Given the description of an element on the screen output the (x, y) to click on. 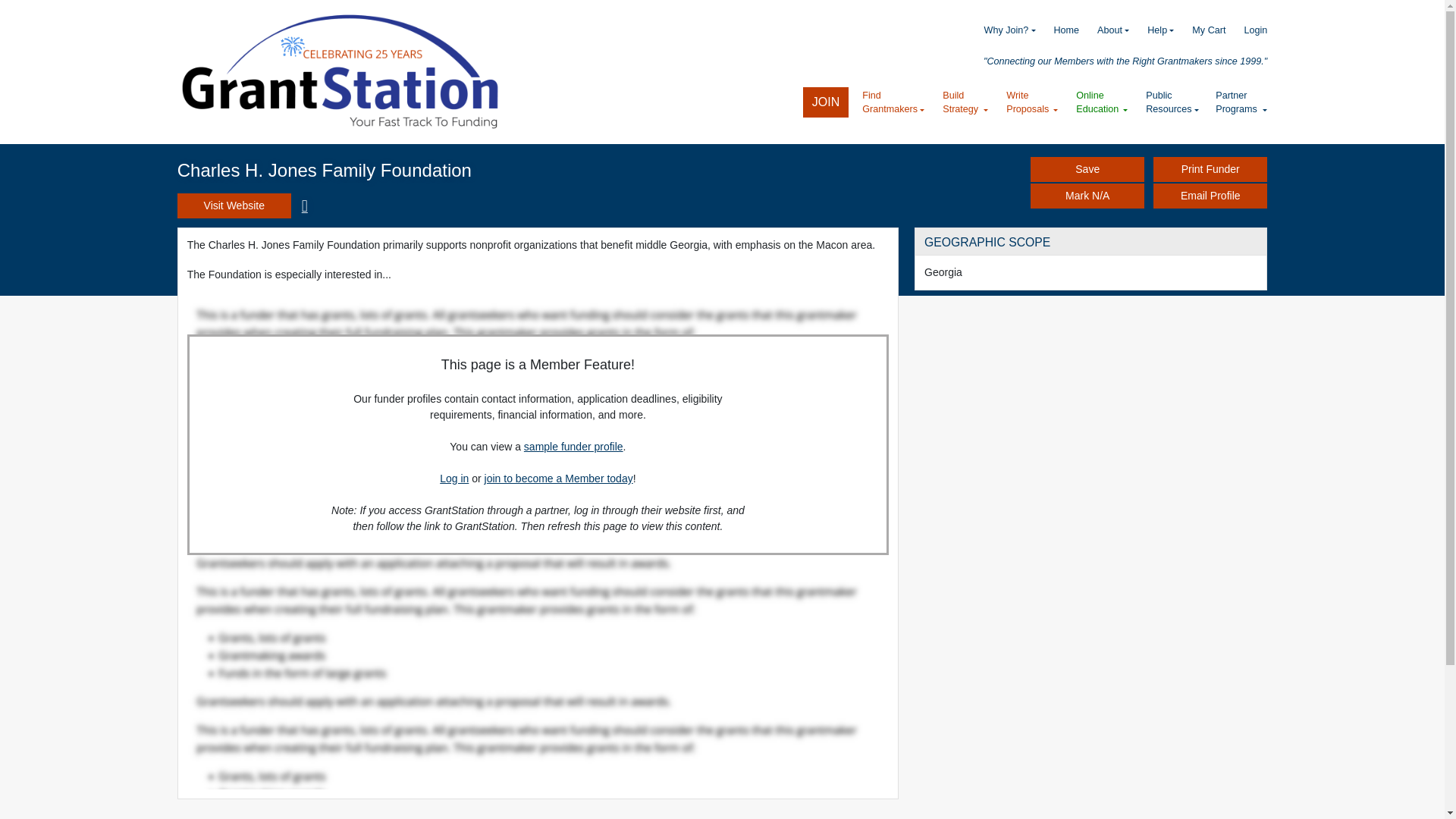
About (1103, 30)
JOIN (825, 101)
My Cart (1199, 30)
Home (1057, 30)
Help (1151, 30)
Find Grantmakers (893, 102)
Expand menu Help (1151, 30)
Expand menu Why Join? (1000, 30)
Why Join? (1000, 30)
Login (1245, 30)
Home (340, 71)
Expand menu About (1103, 30)
Build Strategy (965, 102)
